Given the description of an element on the screen output the (x, y) to click on. 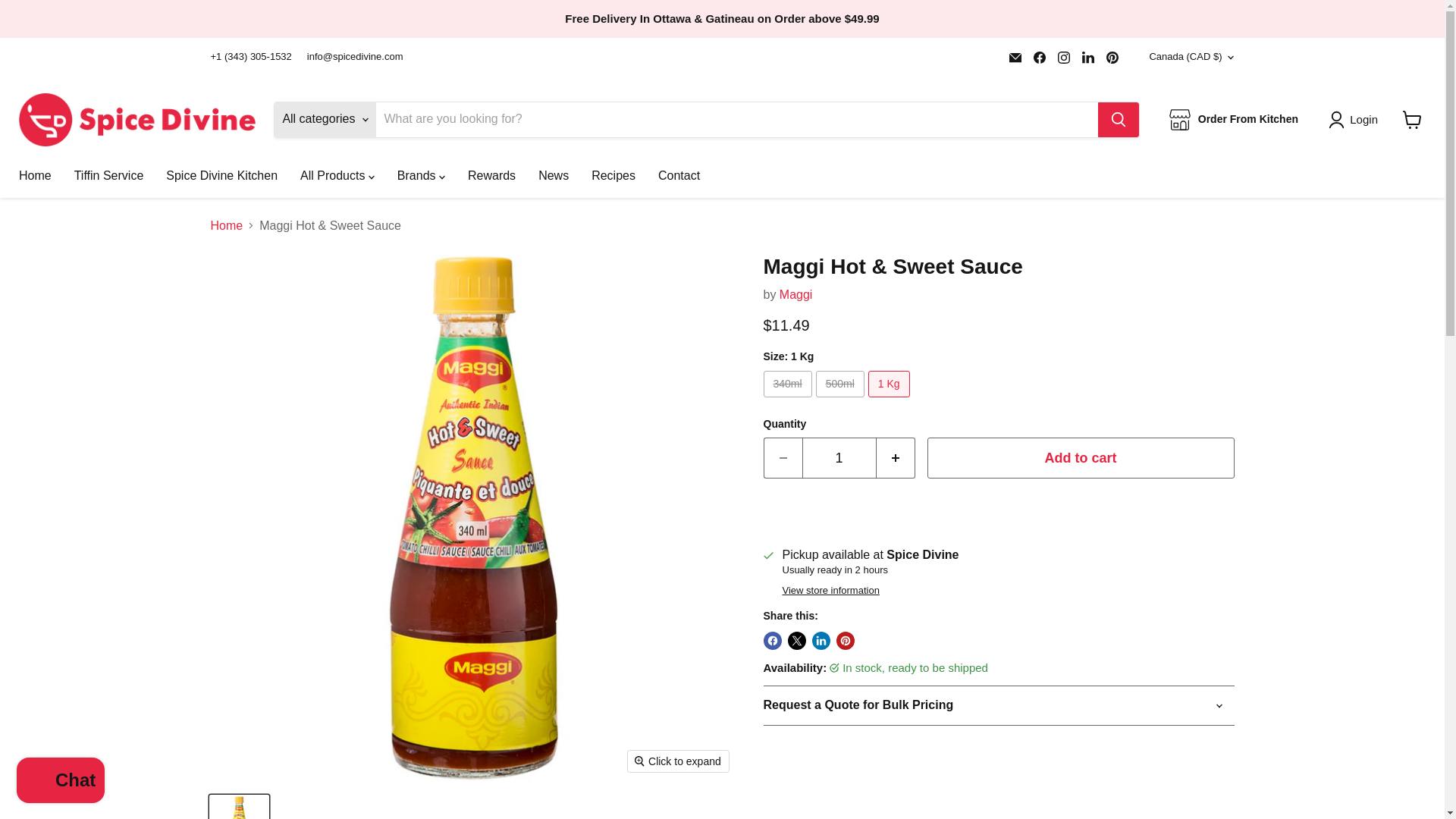
Find us on Pinterest (1112, 56)
Facebook (1039, 56)
1 (839, 458)
LinkedIn (1088, 56)
Email Spice Divine (1015, 56)
Email (1015, 56)
Instagram (1063, 56)
Pinterest (1112, 56)
Find us on Facebook (1039, 56)
Maggi (795, 294)
